Given the description of an element on the screen output the (x, y) to click on. 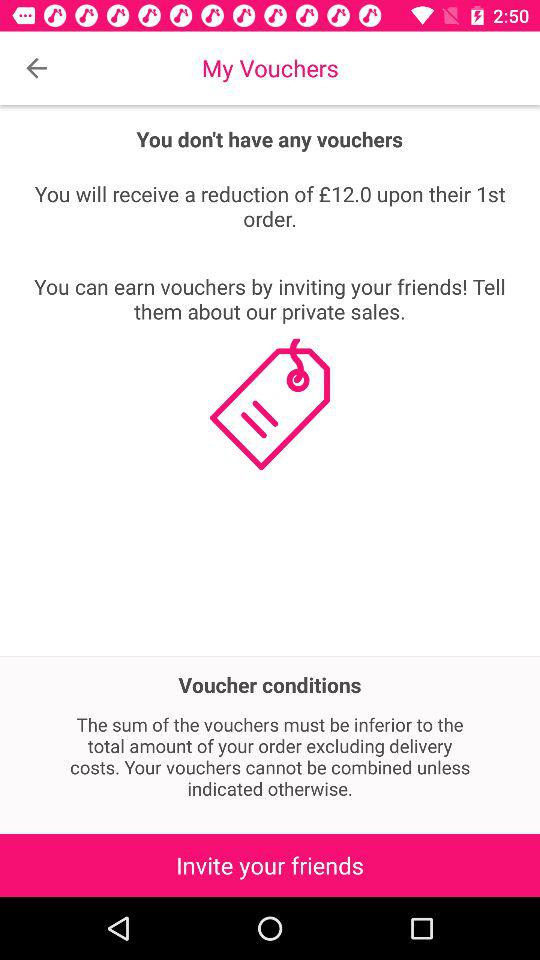
choose the item above the you will receive icon (36, 68)
